Given the description of an element on the screen output the (x, y) to click on. 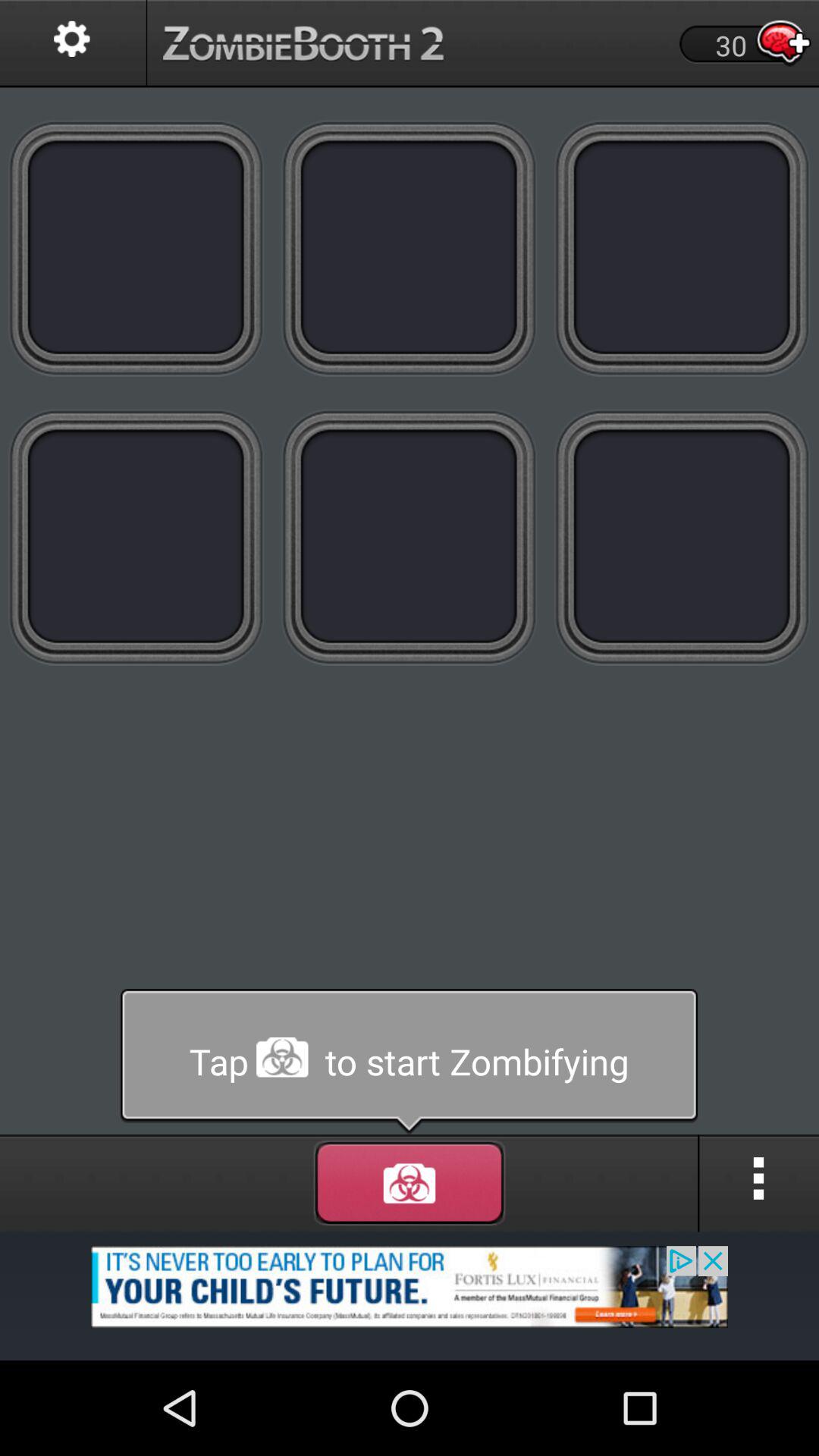
menu (409, 1182)
